Given the description of an element on the screen output the (x, y) to click on. 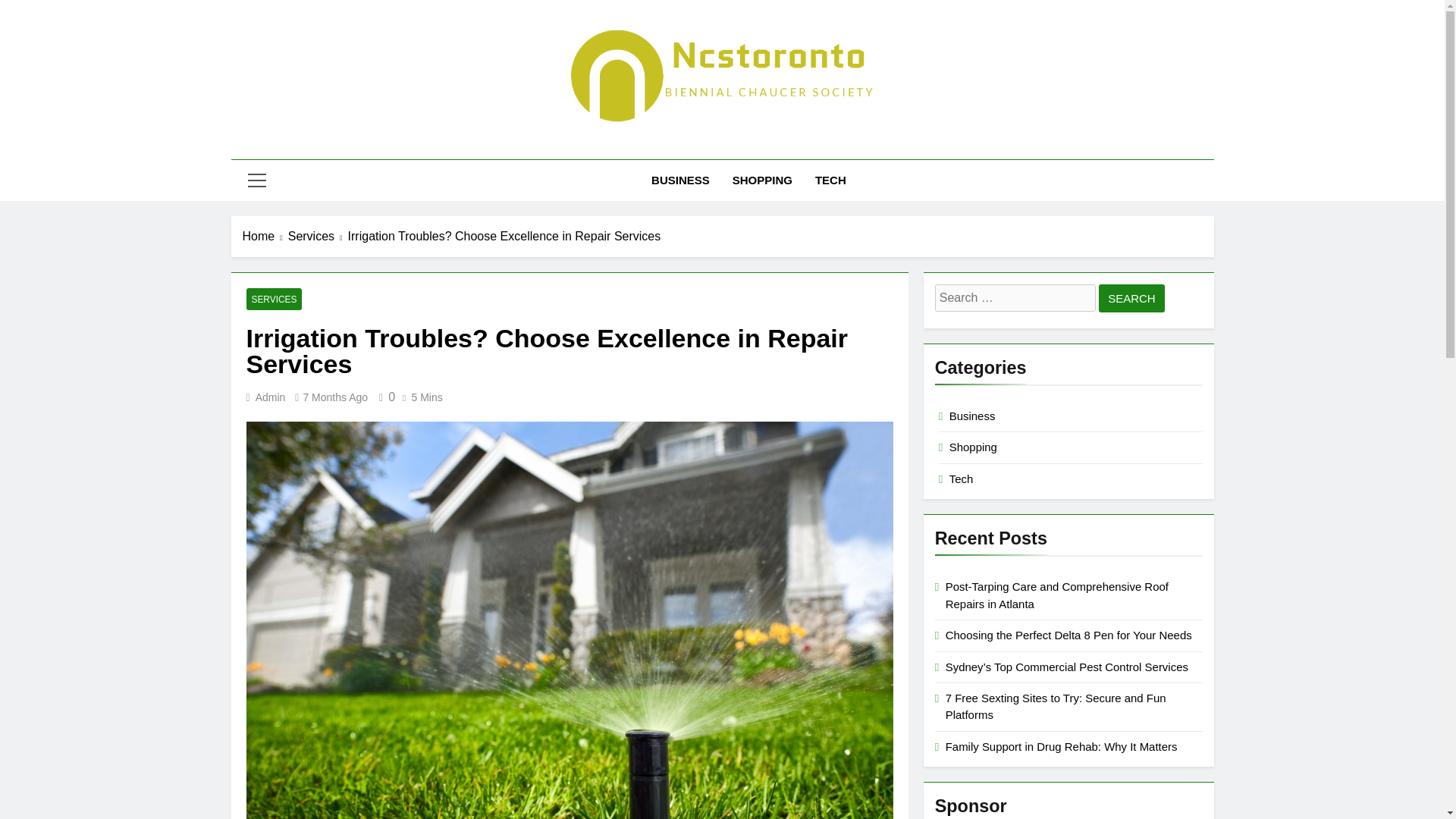
7 Free Sexting Sites to Try: Secure and Fun Platforms (1055, 706)
Tech (961, 478)
Search (1131, 298)
Post-Tarping Care and Comprehensive Roof Repairs in Atlanta (1056, 594)
Shopping (973, 446)
Choosing the Perfect Delta 8 Pen for Your Needs (1068, 634)
Admin (270, 397)
Family Support in Drug Rehab: Why It Matters (1060, 746)
Services (317, 236)
BUSINESS (680, 179)
0 (384, 396)
SERVICES (273, 299)
Search (1131, 298)
Ncstoronto (561, 145)
Search (1131, 298)
